Given the description of an element on the screen output the (x, y) to click on. 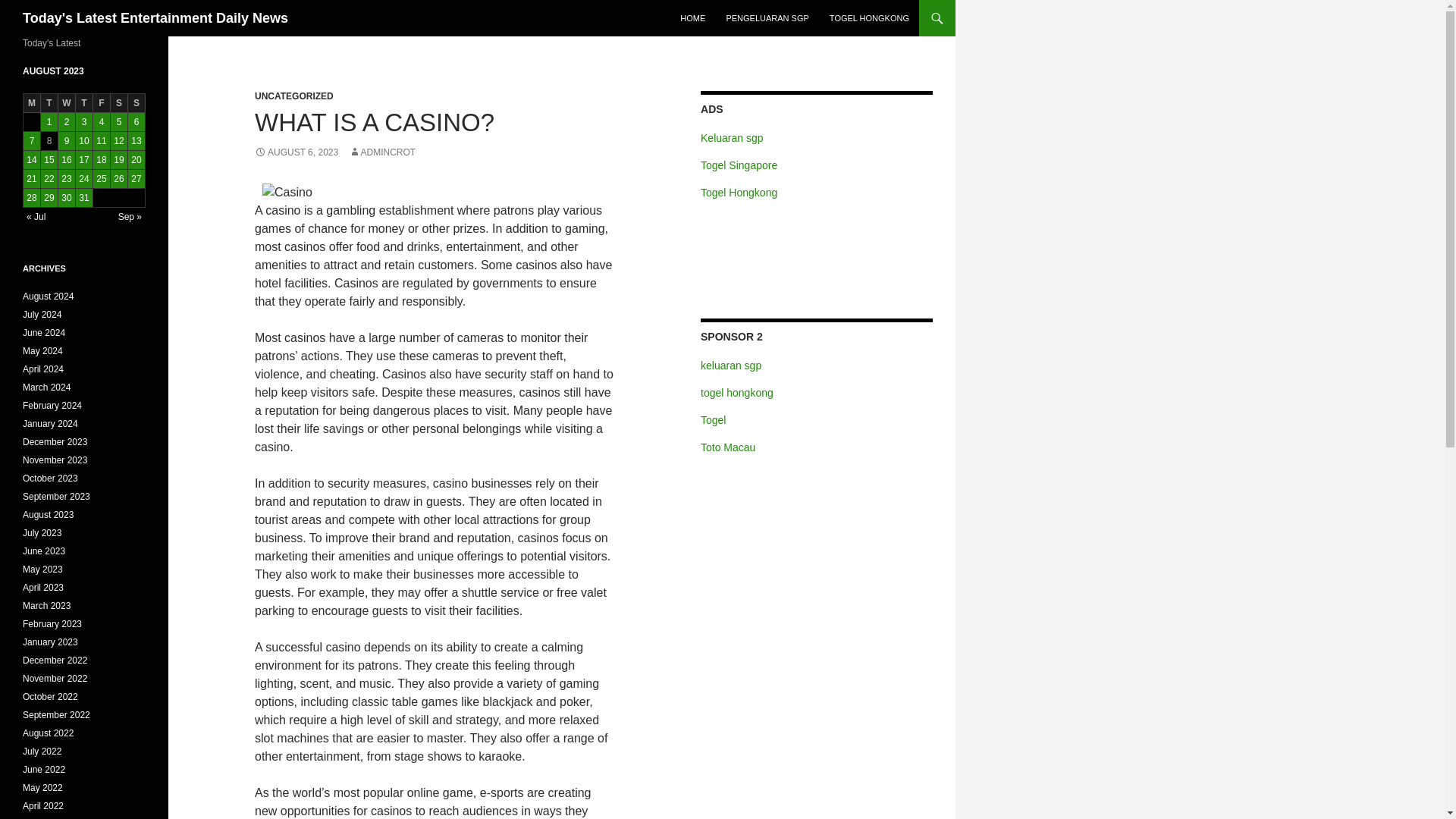
2 (66, 122)
UNCATEGORIZED (293, 95)
ADMINCROT (382, 152)
HOME (692, 18)
AUGUST 6, 2023 (295, 152)
Tuesday (49, 103)
5 (119, 122)
Today's Latest Entertainment Daily News (155, 18)
TOGEL HONGKONG (869, 18)
16 (66, 159)
7 (31, 140)
9 (66, 140)
Togel Hongkong (738, 192)
Togel Singapore (738, 164)
11 (101, 140)
